Given the description of an element on the screen output the (x, y) to click on. 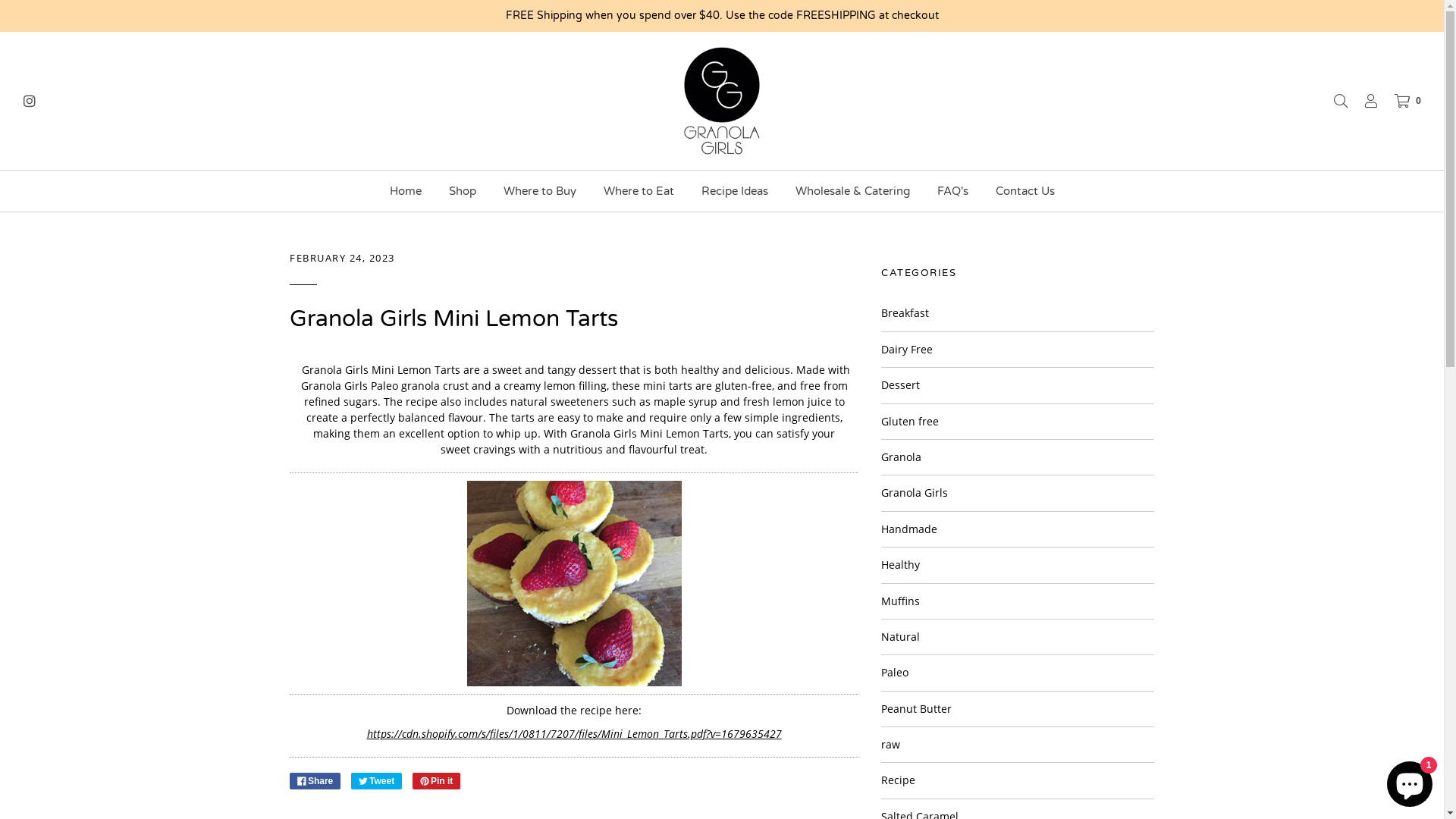
Natural Element type: text (900, 636)
Pin it Element type: text (436, 780)
Log in Element type: hover (1363, 100)
Granola Girls Element type: text (914, 492)
Dessert Element type: text (900, 384)
Peanut Butter Element type: text (916, 708)
Shop Element type: text (461, 190)
Handmade Element type: text (909, 528)
Dairy Free Element type: text (906, 349)
Where to Buy Element type: text (538, 190)
Recipe Element type: text (898, 779)
Where to Eat Element type: text (637, 190)
Granola Girls Mini Lemon Tarts Element type: text (453, 318)
Paleo Element type: text (894, 672)
Granola Element type: text (901, 456)
FAQ's Element type: text (952, 190)
Healthy Element type: text (900, 564)
Breakfast Element type: text (904, 312)
Muffins Element type: text (900, 600)
Recipe Ideas Element type: text (734, 190)
Contact Us Element type: text (1025, 190)
Share Element type: text (314, 780)
0 Element type: text (1400, 100)
Gluten free Element type: text (909, 421)
Tweet Element type: text (376, 780)
Shopify online store chat Element type: hover (1409, 780)
Search Element type: hover (1332, 100)
Home Element type: text (404, 190)
Wholesale & Catering Element type: text (852, 190)
raw Element type: text (890, 744)
